Given the description of an element on the screen output the (x, y) to click on. 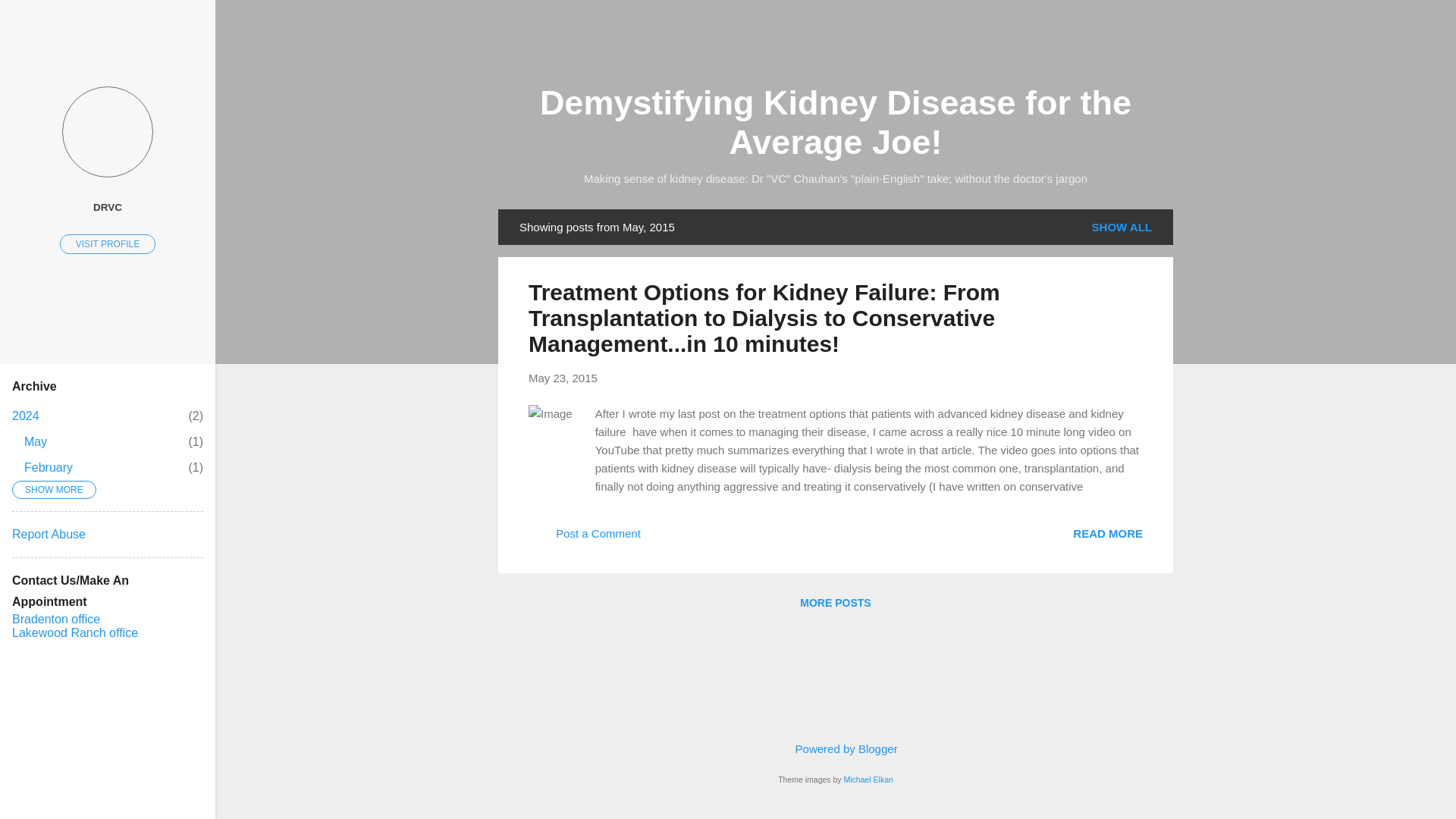
VISIT PROFILE (25, 415)
SHOW ALL (107, 243)
READ MORE (1121, 226)
Email Post (1107, 532)
MORE POSTS (663, 538)
permanent link (834, 602)
May 23, 2015 (562, 377)
Powered by Blogger (562, 377)
Search (834, 748)
